Given the description of an element on the screen output the (x, y) to click on. 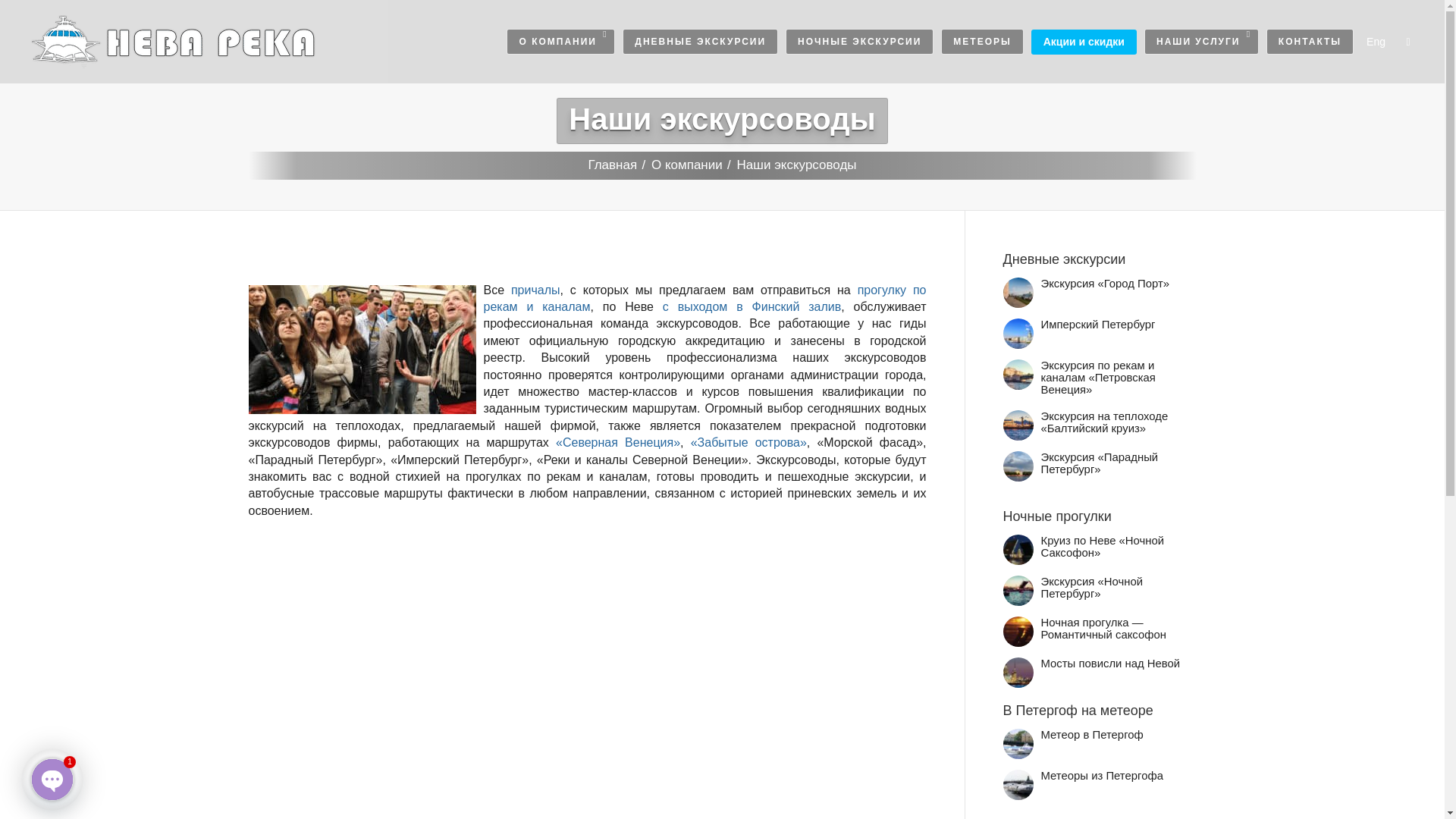
Eng (1376, 41)
